Given the description of an element on the screen output the (x, y) to click on. 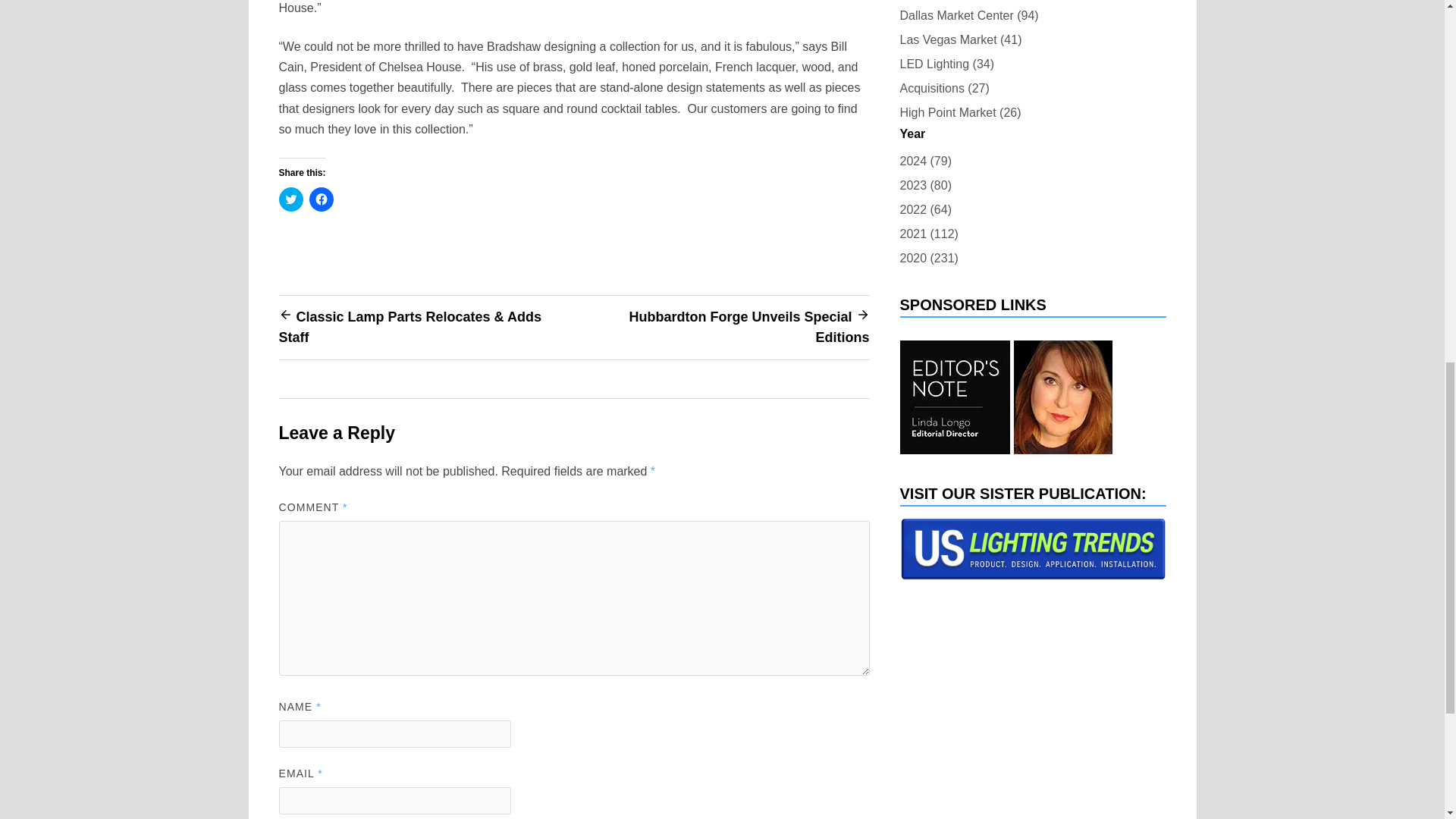
Click to share on Twitter (290, 199)
Hubbardton Forge Unveils Special Editions (748, 326)
Click to share on Facebook (320, 199)
